Given the description of an element on the screen output the (x, y) to click on. 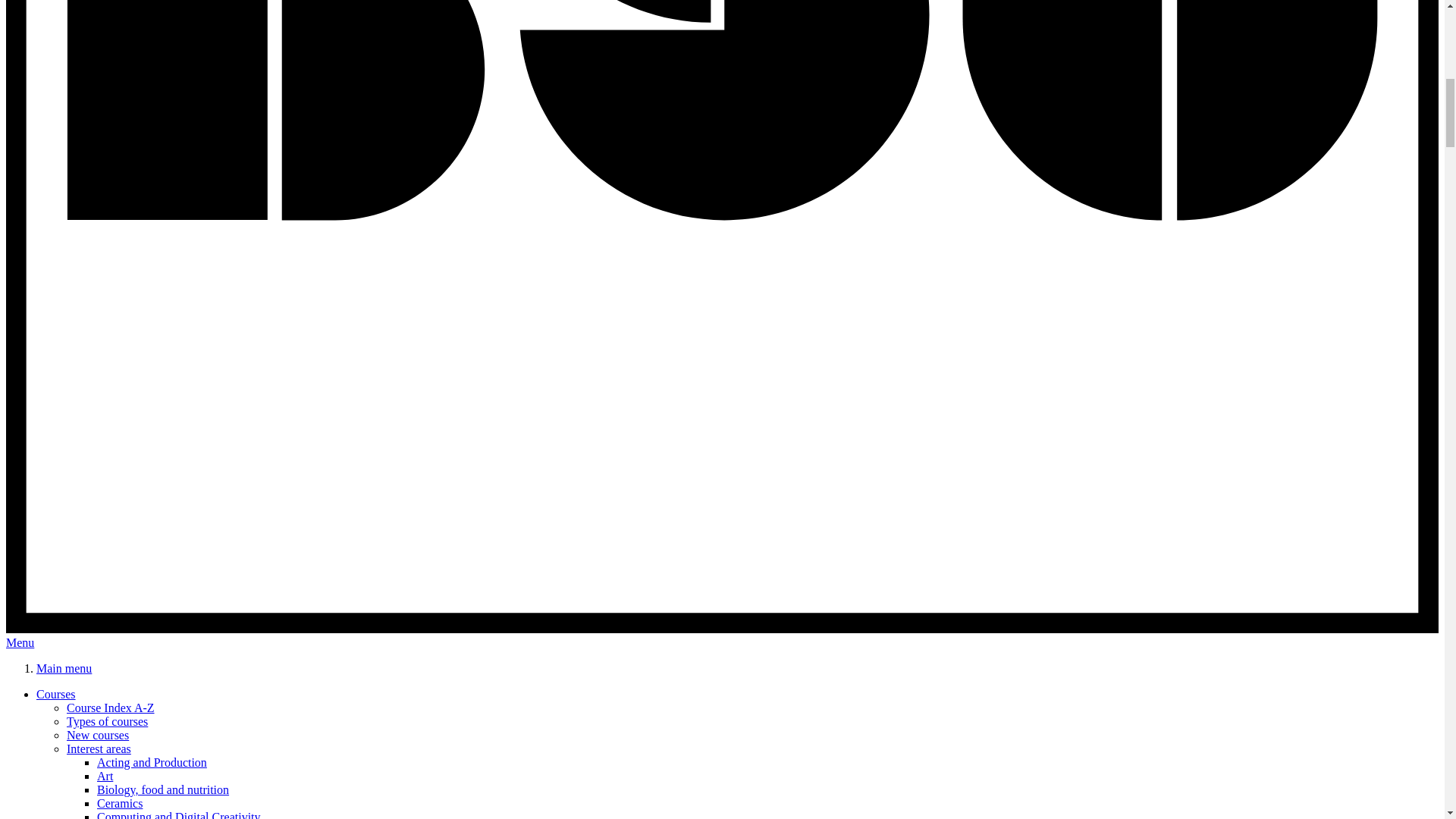
New courses (97, 735)
Courses (55, 694)
Biology, food and nutrition (162, 789)
Main menu (63, 667)
Acting and Production (151, 762)
Ceramics (119, 802)
Interest areas (98, 748)
Course Index A-Z (110, 707)
Menu (19, 642)
Art (105, 775)
Types of courses (107, 721)
Computing and Digital Creativity (178, 814)
